Given the description of an element on the screen output the (x, y) to click on. 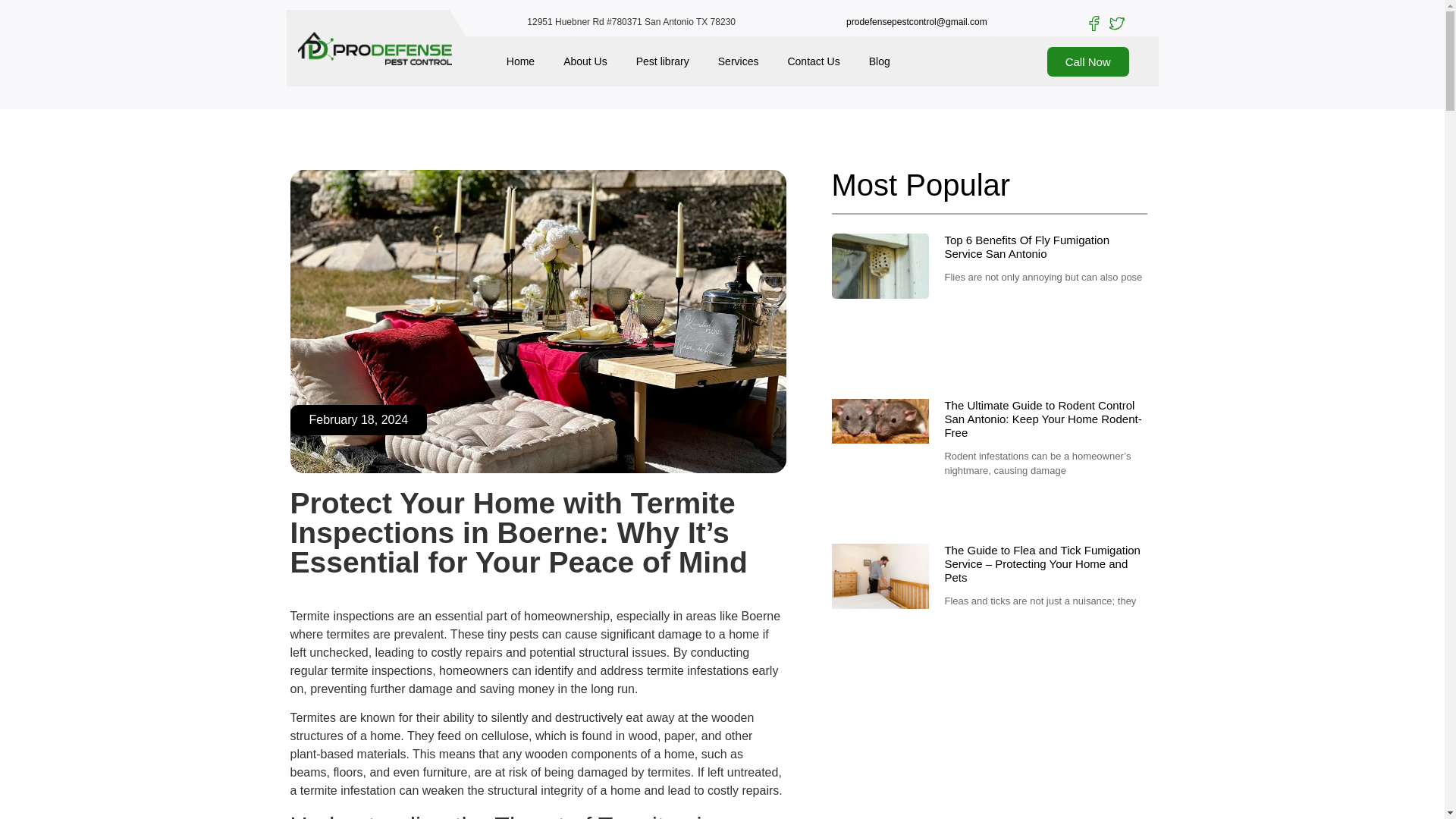
Home (520, 61)
Call Now (1087, 61)
About Us (584, 61)
Blog (879, 61)
Contact Us (813, 61)
Pest library (662, 61)
Services (738, 61)
